Given the description of an element on the screen output the (x, y) to click on. 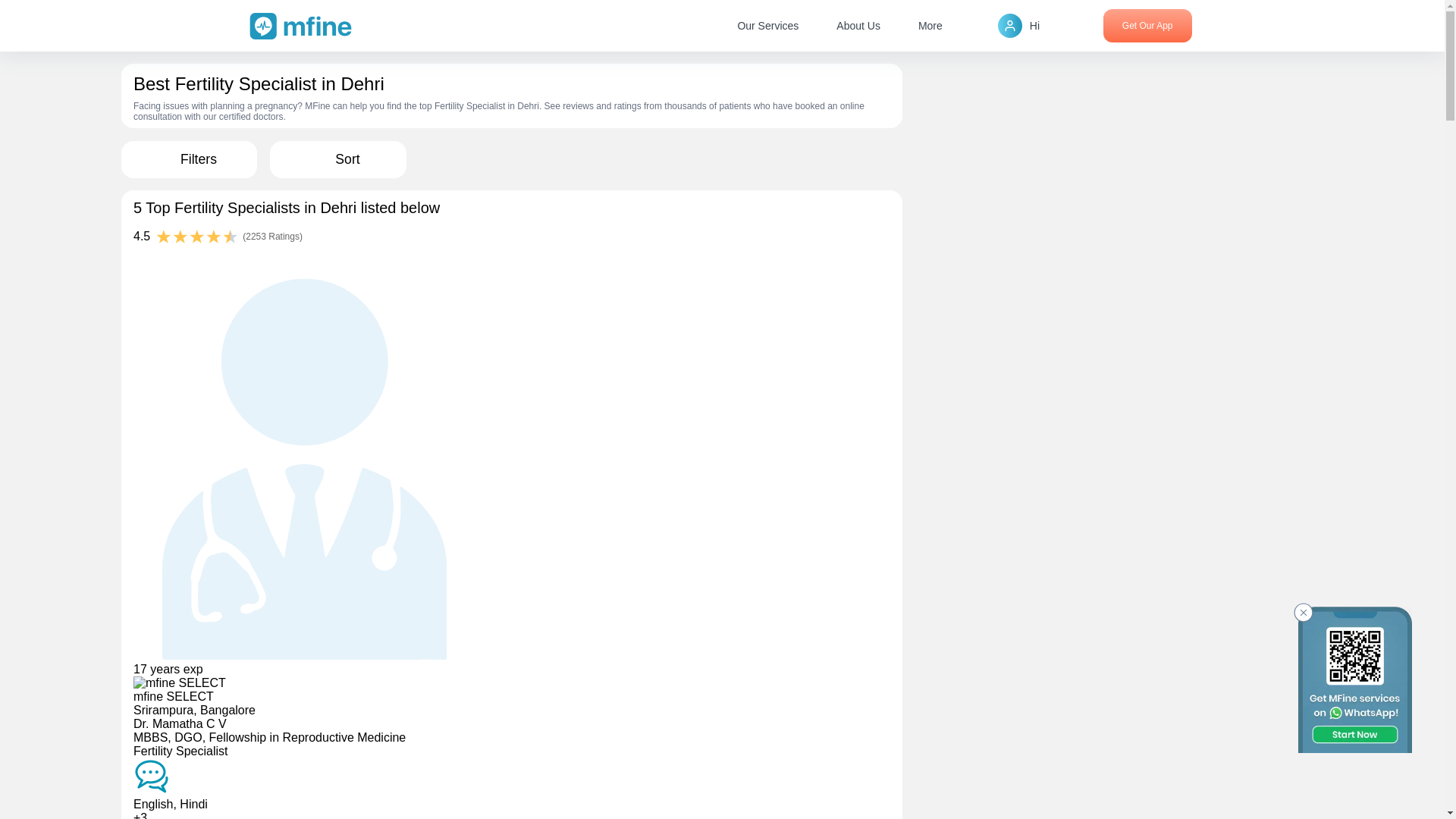
About Us (857, 25)
4.5 Stars (196, 238)
Get Our App (1147, 25)
